Given the description of an element on the screen output the (x, y) to click on. 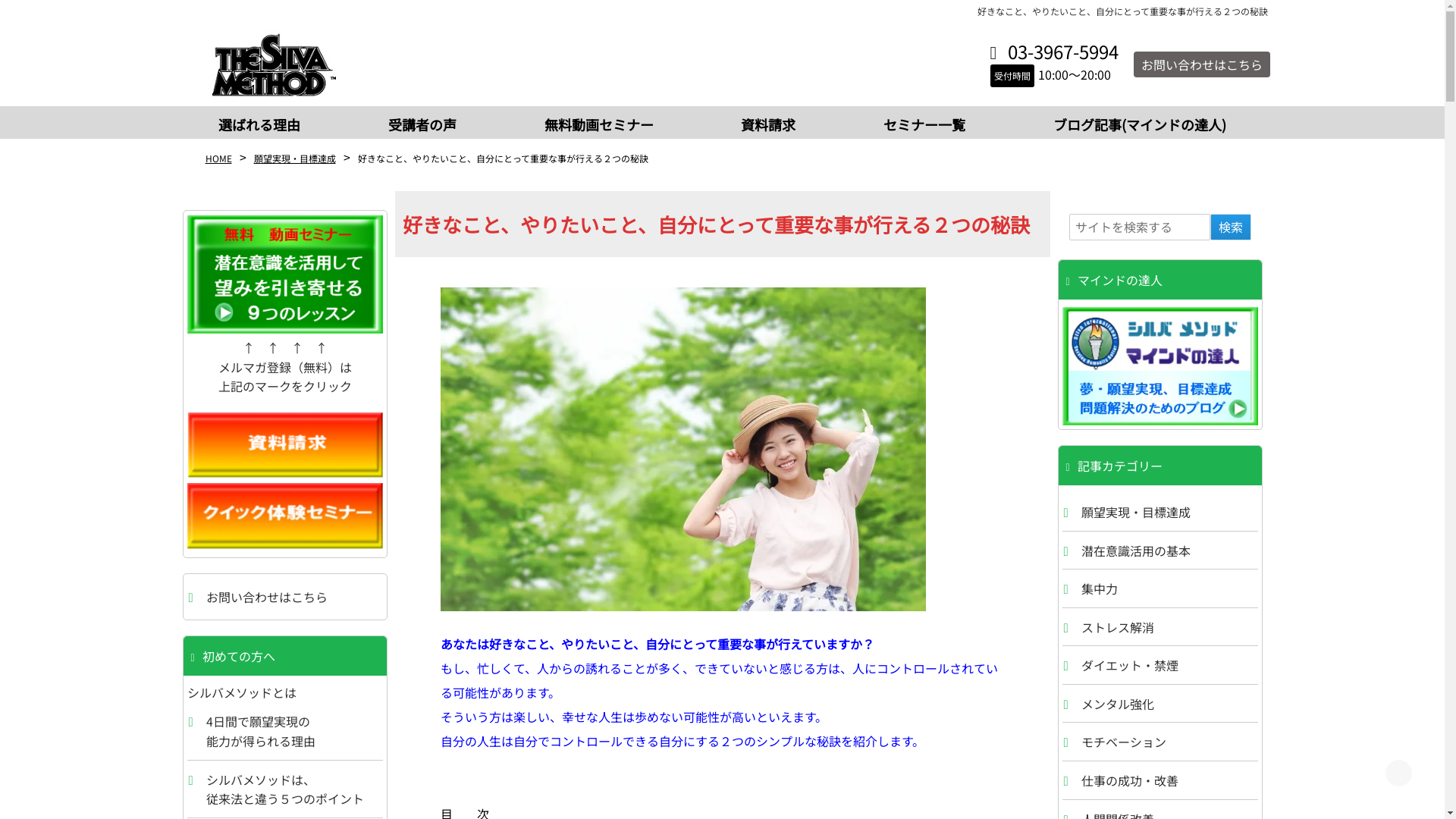
HOME Element type: text (217, 157)
